Given the description of an element on the screen output the (x, y) to click on. 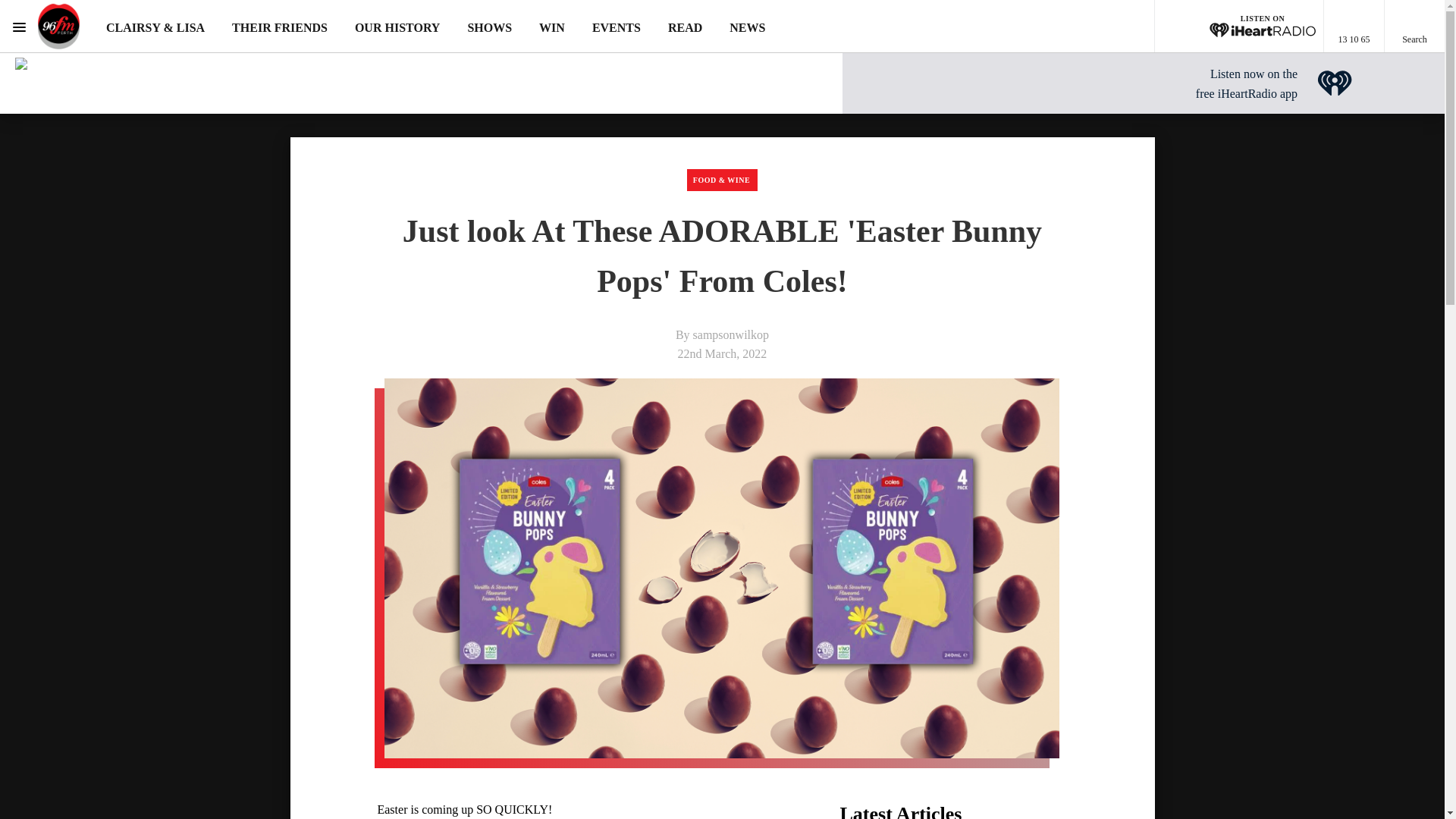
EVENTS (616, 26)
13 10 65 (1353, 26)
LISTEN ON (1238, 26)
iHeart (1334, 82)
THEIR FRIENDS (279, 26)
OUR HISTORY (398, 26)
